Given the description of an element on the screen output the (x, y) to click on. 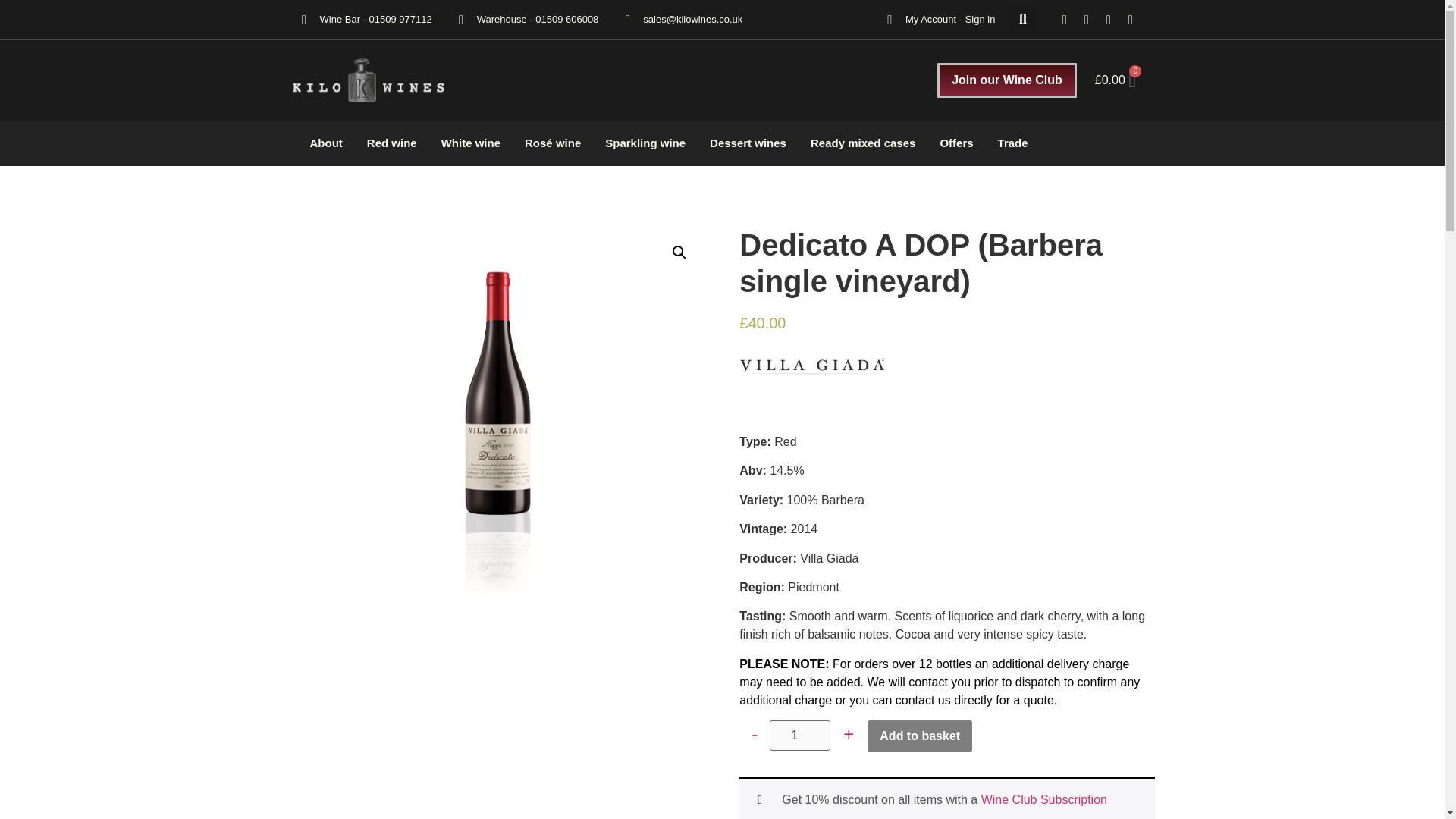
Offers (956, 142)
White wine (470, 142)
Warehouse - 01509 606008 (537, 19)
Sparkling wine (644, 142)
1 (799, 735)
My Account - Sign in (950, 19)
Join our Wine Club (1006, 80)
Red wine (392, 142)
Trade (1013, 142)
Wine Bar - 01509 977112 (376, 19)
